Given the description of an element on the screen output the (x, y) to click on. 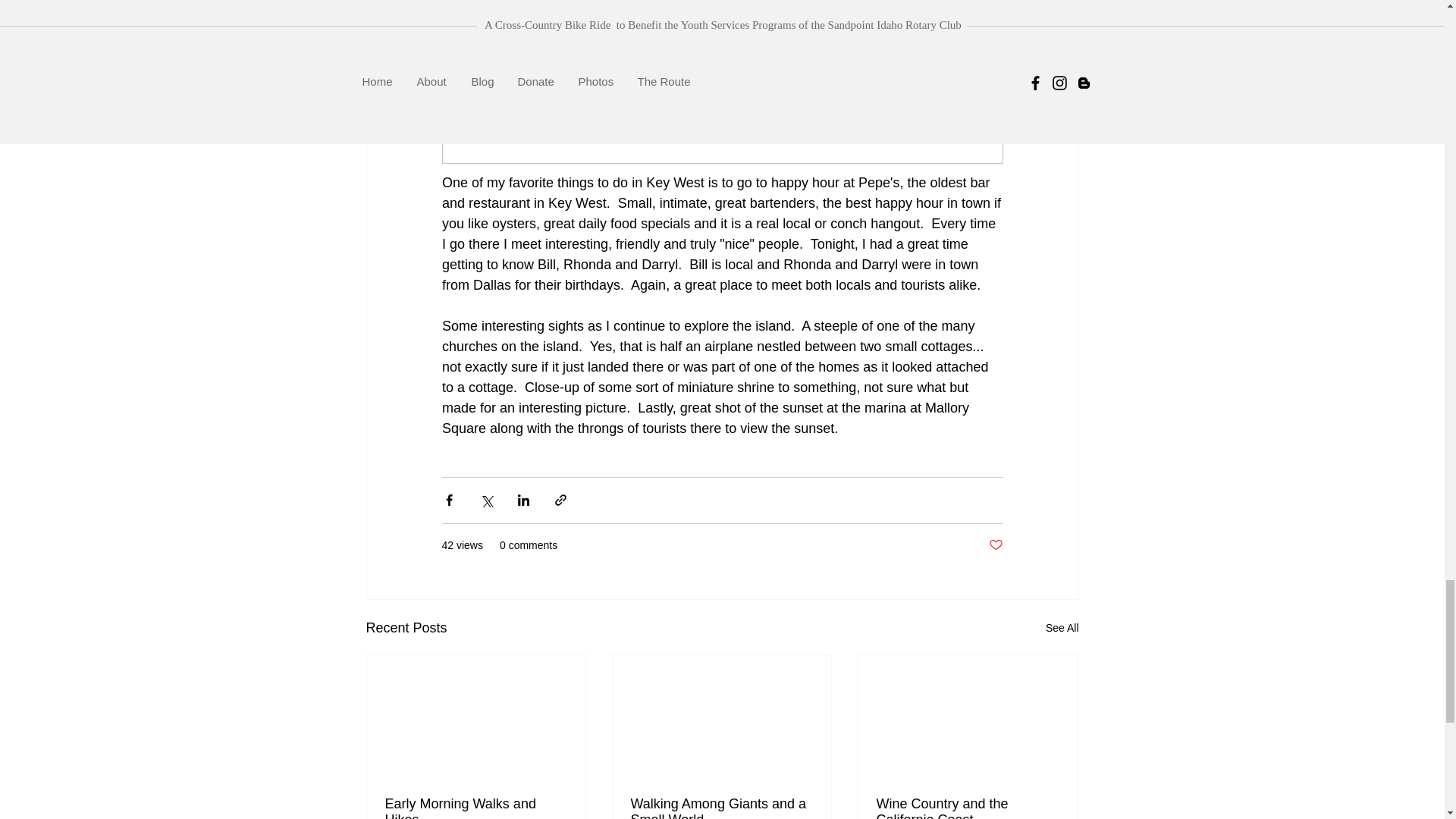
Walking Among Giants and a Small World (721, 807)
Early Morning Walks and Hikes (476, 807)
Post not marked as liked (995, 545)
Wine Country and the California Coast (967, 807)
See All (1061, 628)
